Given the description of an element on the screen output the (x, y) to click on. 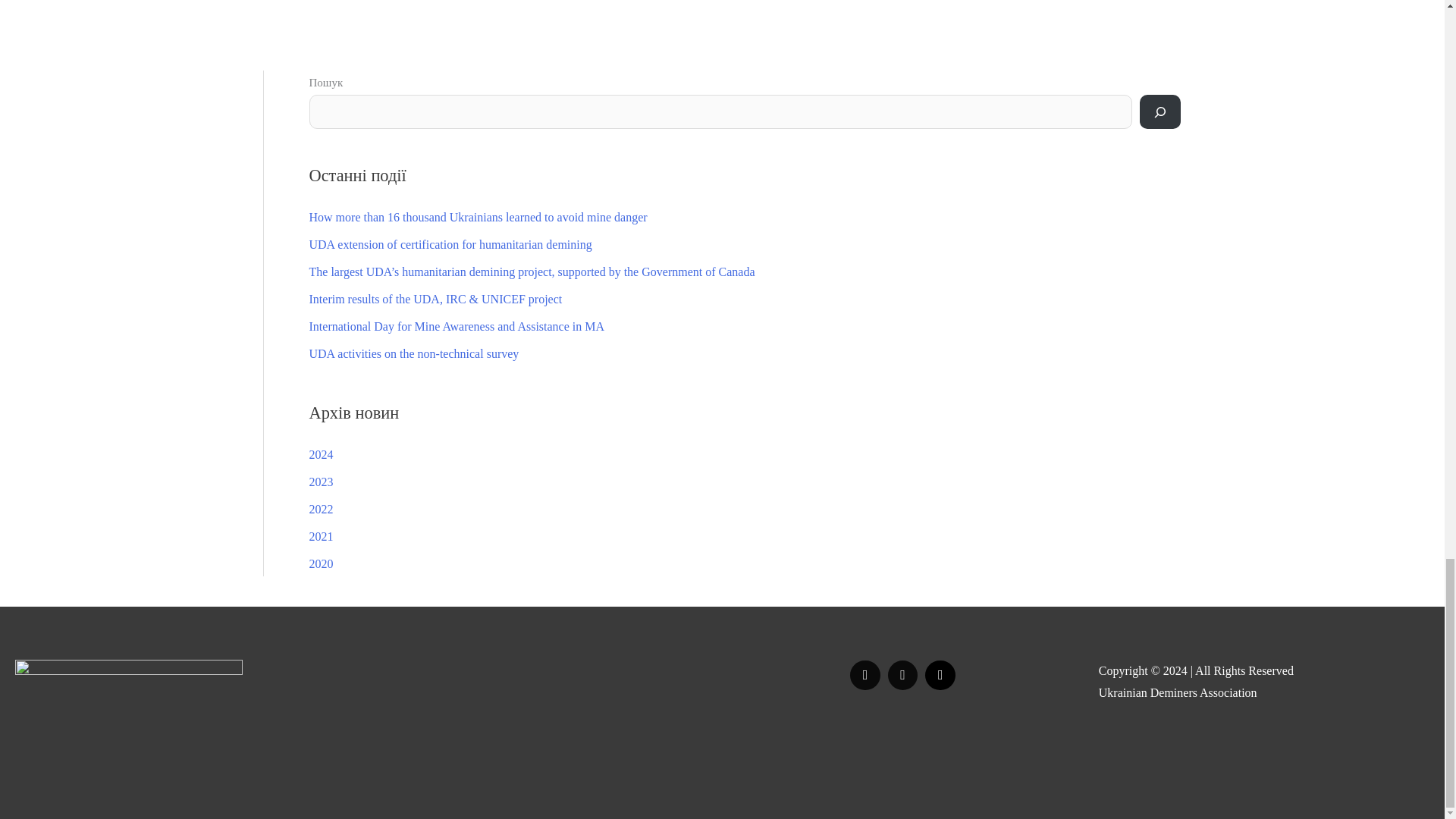
Instagram (902, 675)
Youtube (940, 675)
Facebook (864, 675)
